Given the description of an element on the screen output the (x, y) to click on. 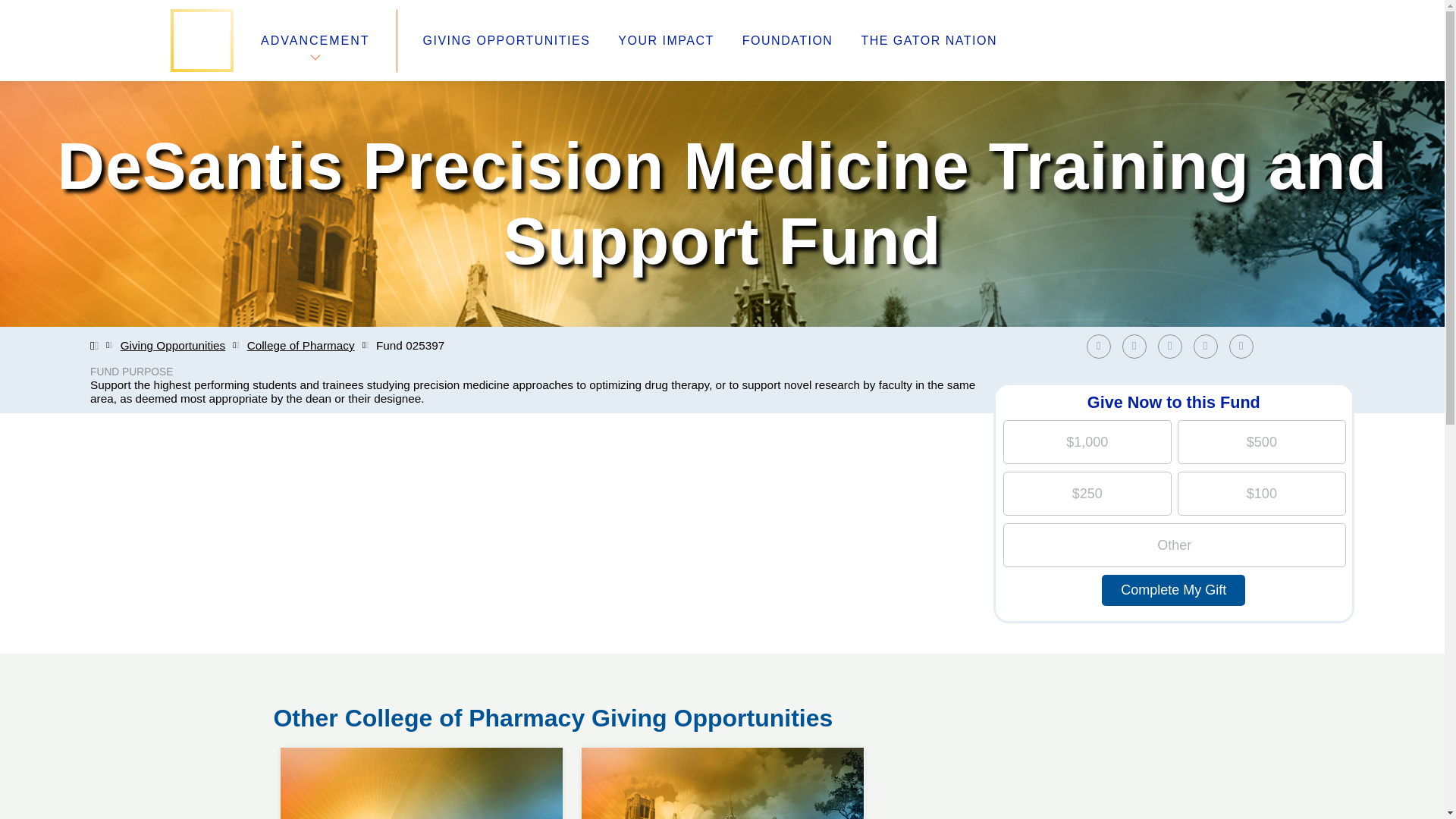
Advancement HUB (560, 668)
Complete My Gift (1173, 590)
University of Florida (840, 668)
Share on LinkedIn (1169, 346)
Share by Email (1240, 346)
YOUR IMPACT (665, 40)
Share on LinkedIn (1173, 345)
ADVANCEMENT (314, 40)
Advancement Toolkit (565, 686)
Join Our Team (317, 668)
Share on Reddit (1209, 345)
Disclosures (537, 723)
Share on Twitter (1138, 345)
THE GATOR NATION (928, 40)
Share by Email (1244, 345)
